Given the description of an element on the screen output the (x, y) to click on. 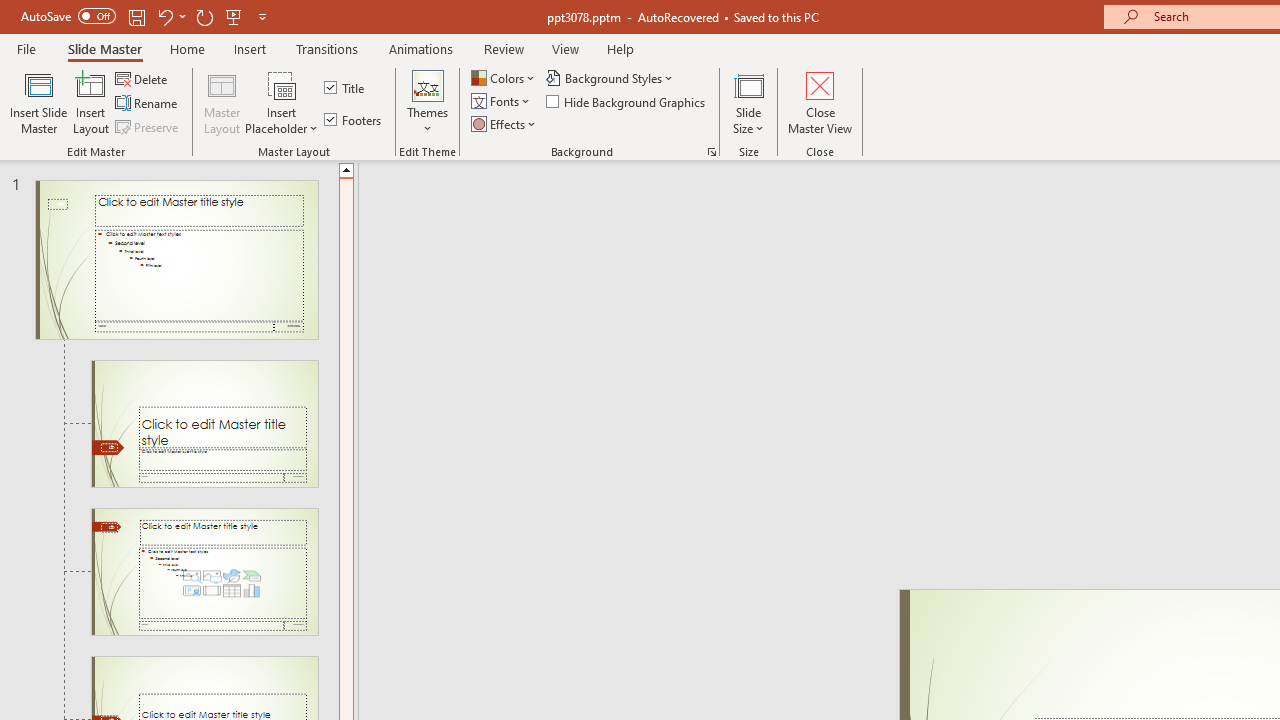
Footers (354, 119)
Rename (148, 103)
Slide Wisp Slide Master: used by slide(s) 1 (176, 259)
Title (346, 87)
Fonts (502, 101)
Themes (427, 102)
Delete (143, 78)
Slide Master (104, 48)
